Given the description of an element on the screen output the (x, y) to click on. 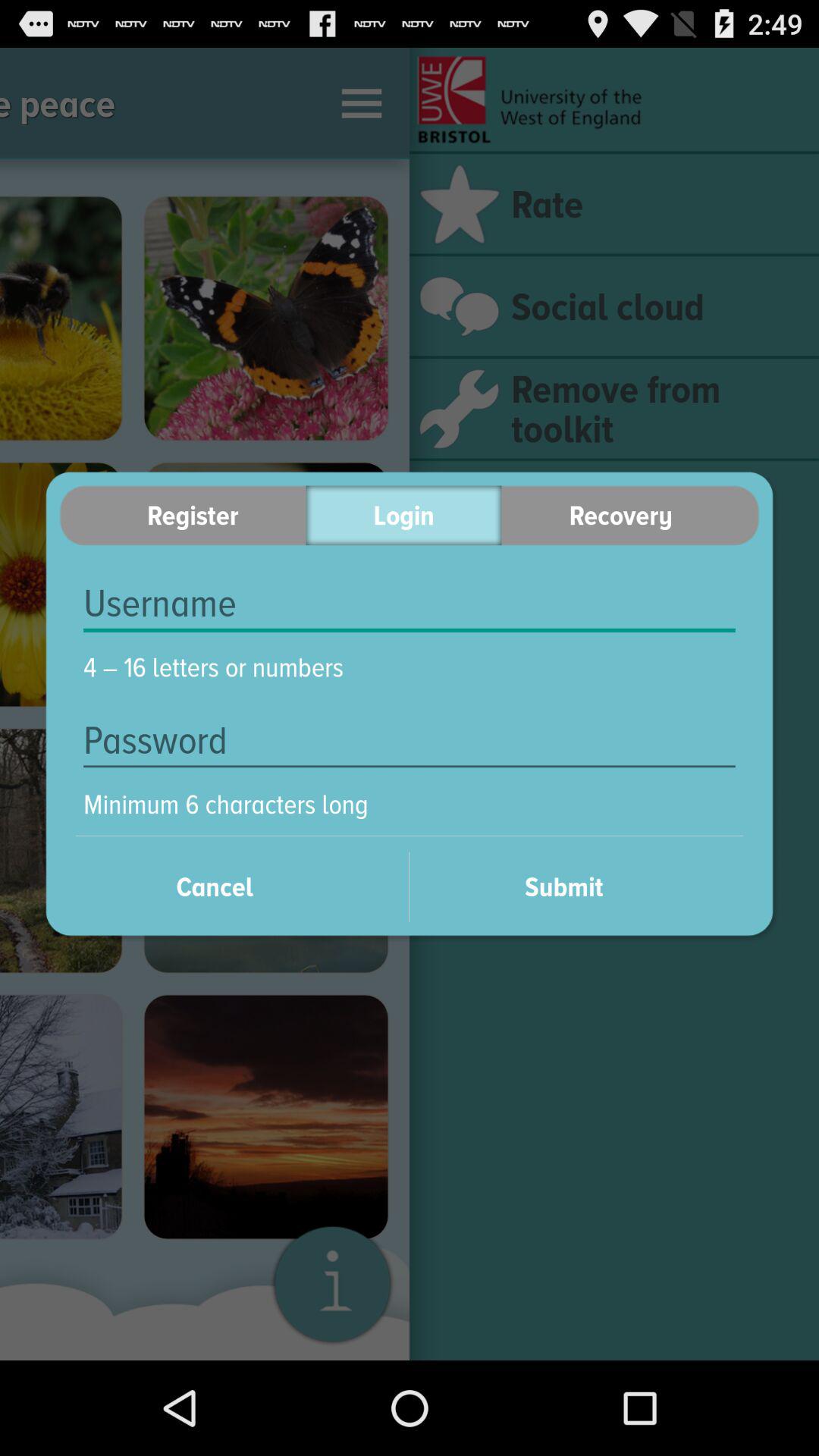
tap icon to the right of the register (403, 515)
